Given the description of an element on the screen output the (x, y) to click on. 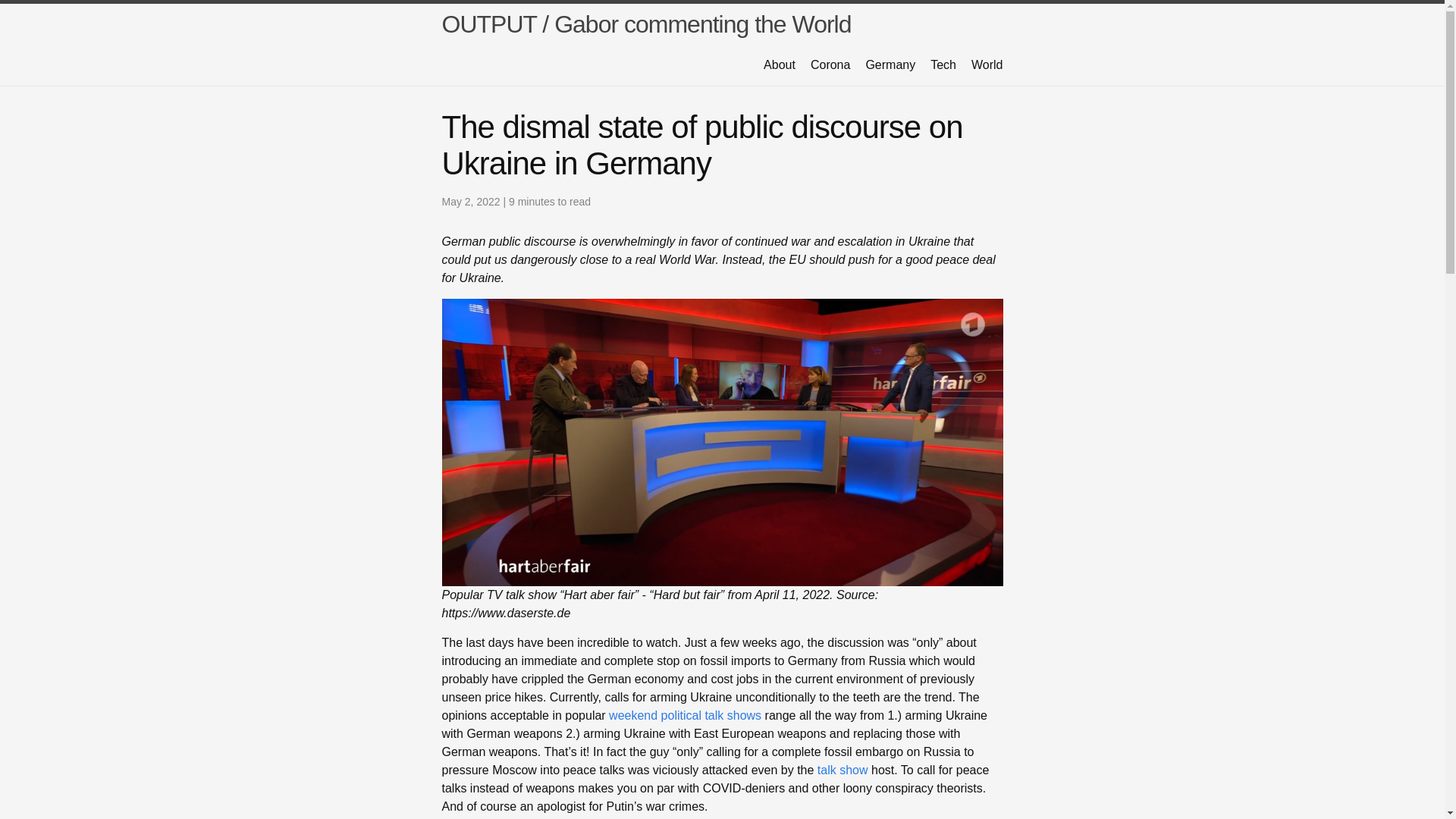
World (987, 64)
talk show (841, 769)
About (778, 64)
Corona (830, 64)
Estimated read time (549, 201)
Tech (943, 64)
Germany (889, 64)
weekend political talk shows (684, 715)
